Given the description of an element on the screen output the (x, y) to click on. 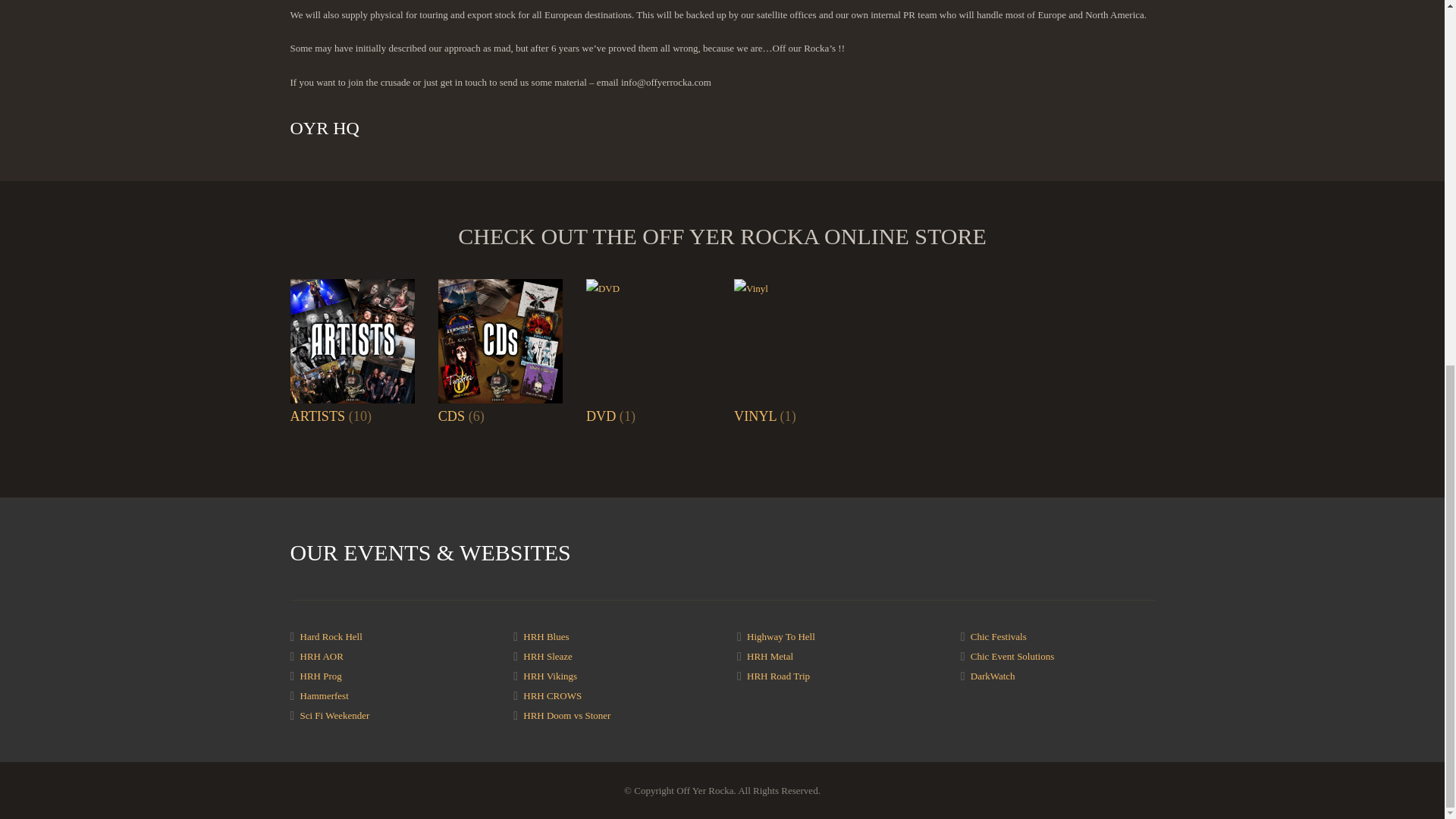
Highway To Hell (780, 636)
Chic Event Solutions (1012, 655)
HRH Metal (769, 655)
HRH Doom vs Stoner (566, 715)
Back to top (1413, 181)
HRH Road Trip (777, 675)
Hammerfest (324, 695)
Chic Festivals (998, 636)
HRH Sleaze (547, 655)
HRH Blues (545, 636)
HRH CROWS (551, 695)
HRH AOR (321, 655)
DarkWatch (992, 675)
Hard Rock Hell (330, 636)
HRH Vikings (549, 675)
